Given the description of an element on the screen output the (x, y) to click on. 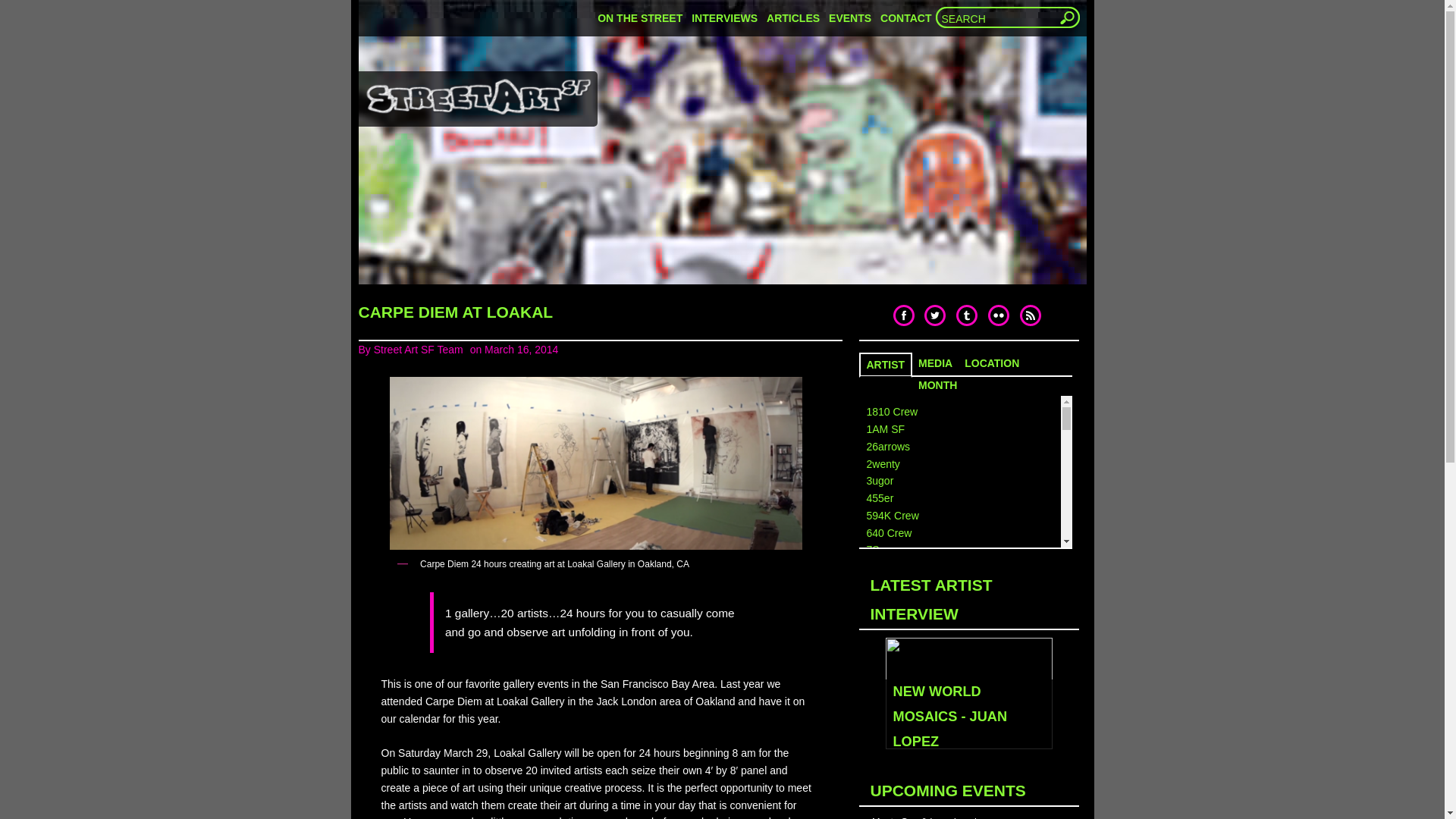
26arrows (888, 446)
ABCNT (883, 653)
Acme (879, 687)
Upcoming Events (849, 18)
Aaron Kai (889, 602)
A3 (872, 567)
MEDIA (935, 363)
LOCATION (991, 363)
Street Art SF Team (418, 349)
ON THE STREET (639, 18)
